Given the description of an element on the screen output the (x, y) to click on. 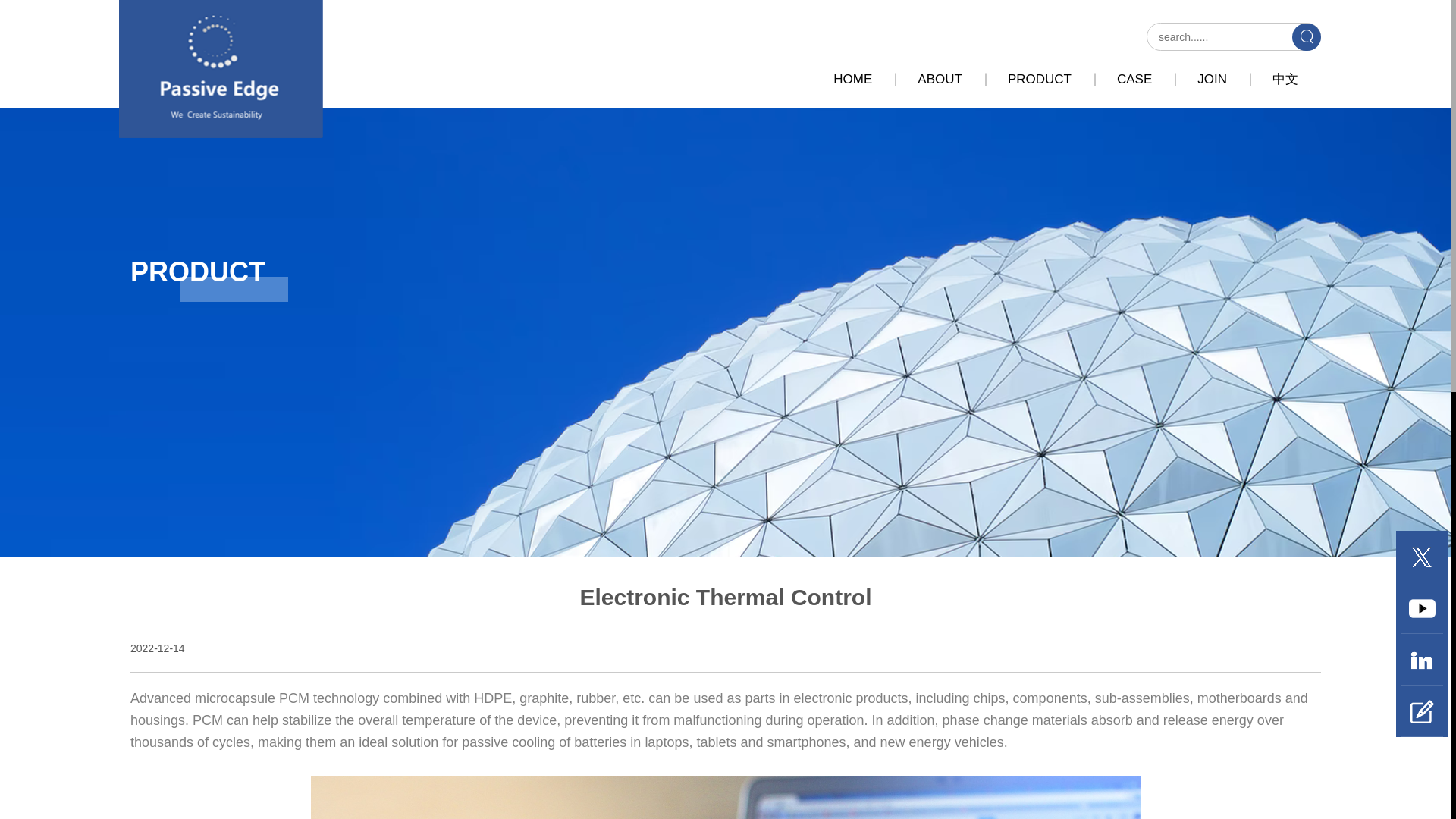
CASE (1133, 79)
JOIN (1211, 79)
ABOUT (939, 79)
HOME (852, 79)
PRODUCT (1039, 79)
